Given the description of an element on the screen output the (x, y) to click on. 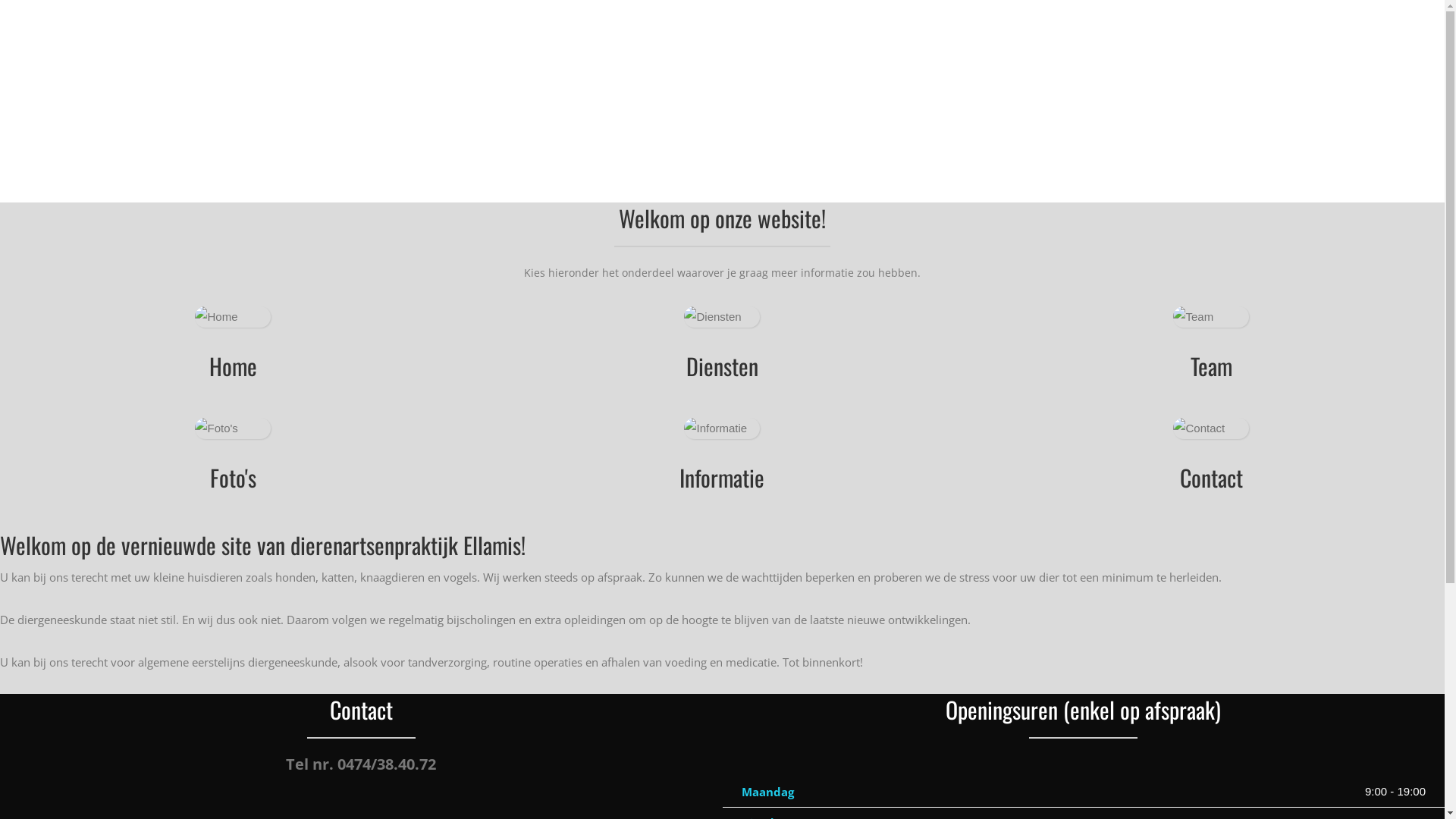
Home Element type: text (233, 365)
Diensten Element type: text (722, 365)
Team Element type: text (1211, 365)
Informatie Element type: text (721, 477)
Contact Element type: text (1210, 477)
Foto's Element type: text (233, 477)
